Given the description of an element on the screen output the (x, y) to click on. 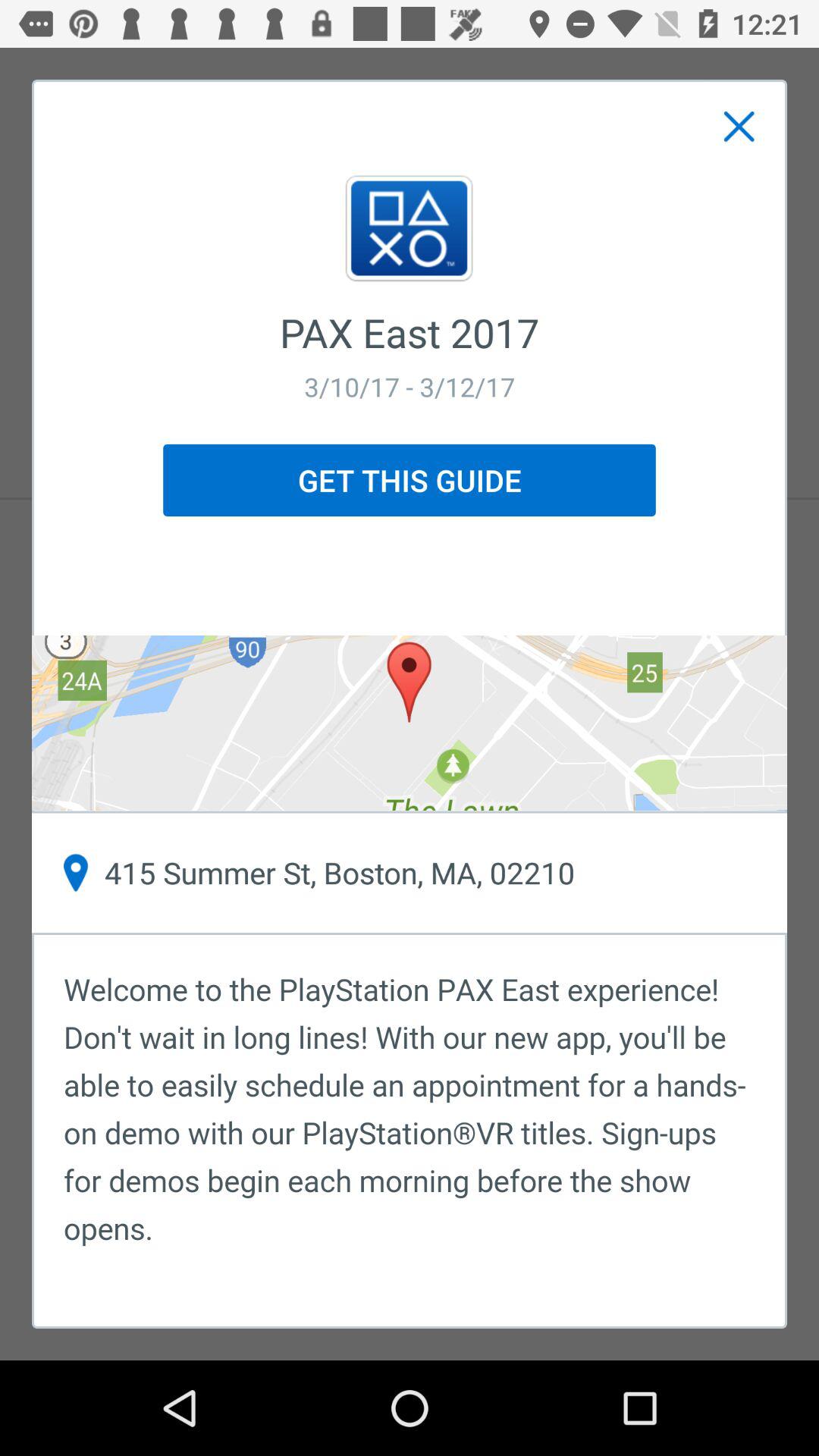
turn off the 415 summer st item (409, 872)
